Given the description of an element on the screen output the (x, y) to click on. 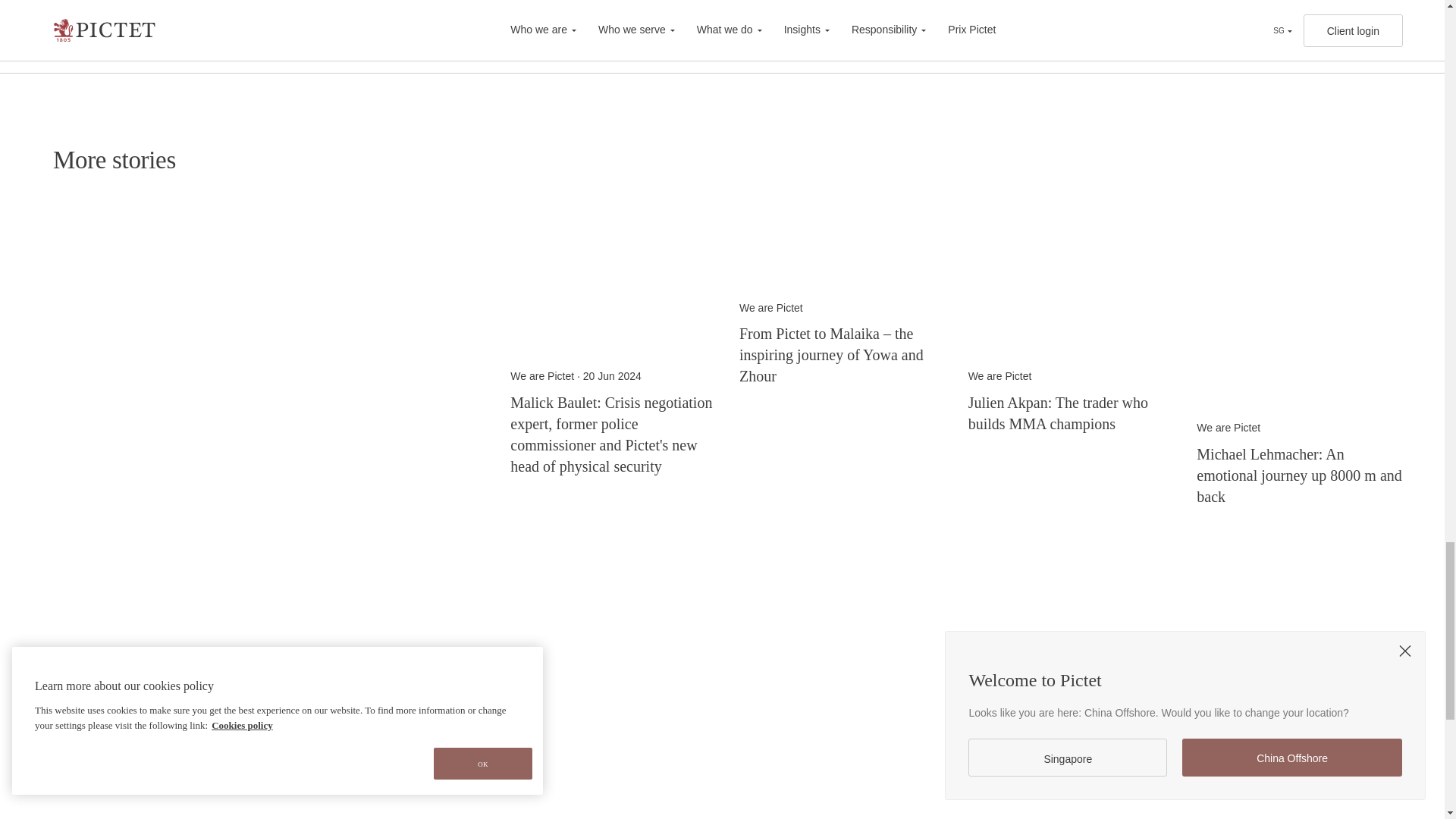
Julien Akpan (1071, 248)
Zhour El Arroubi and Yowa Kabongo (841, 248)
